Given the description of an element on the screen output the (x, y) to click on. 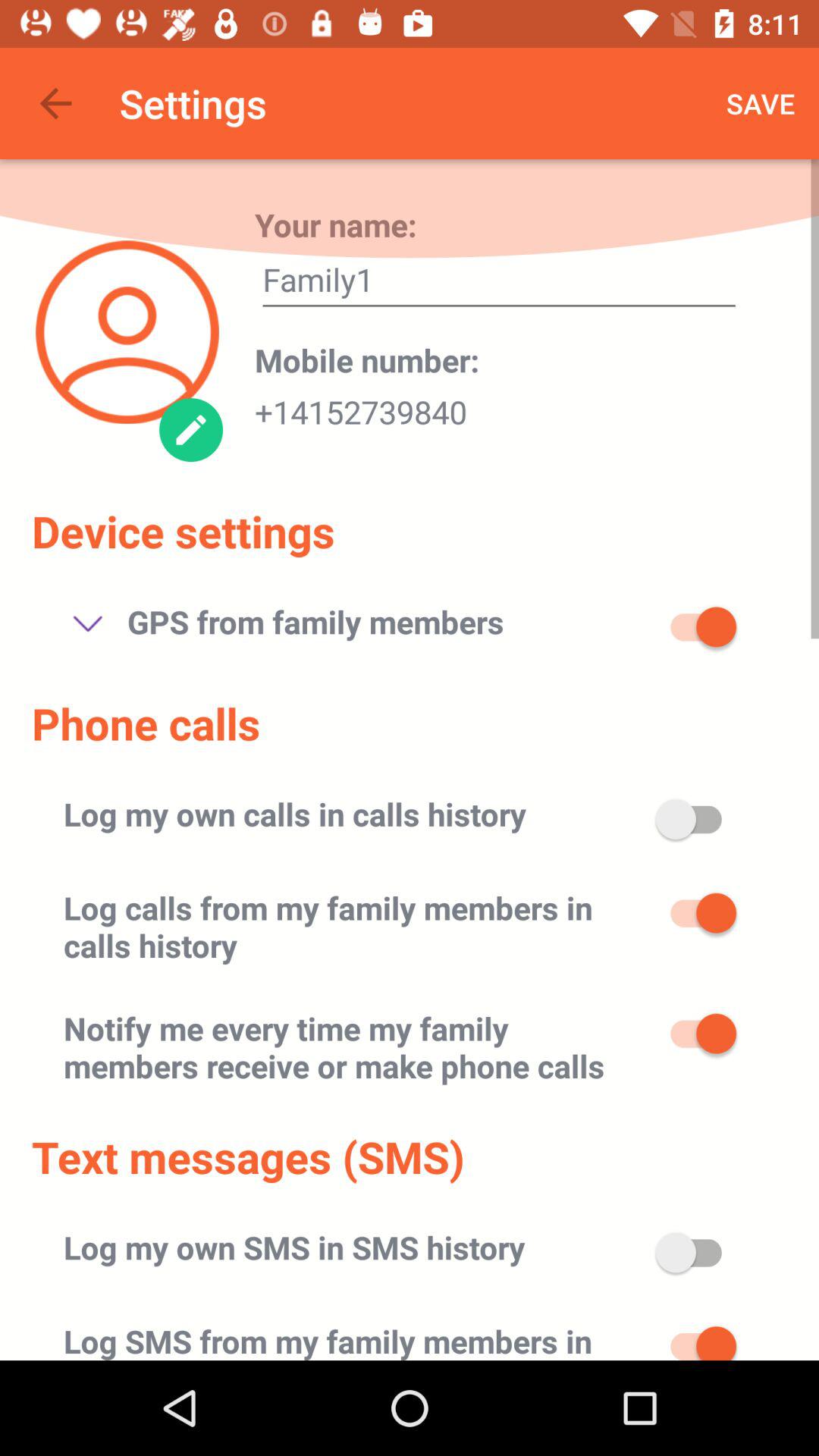
select your name: item (335, 224)
